Given the description of an element on the screen output the (x, y) to click on. 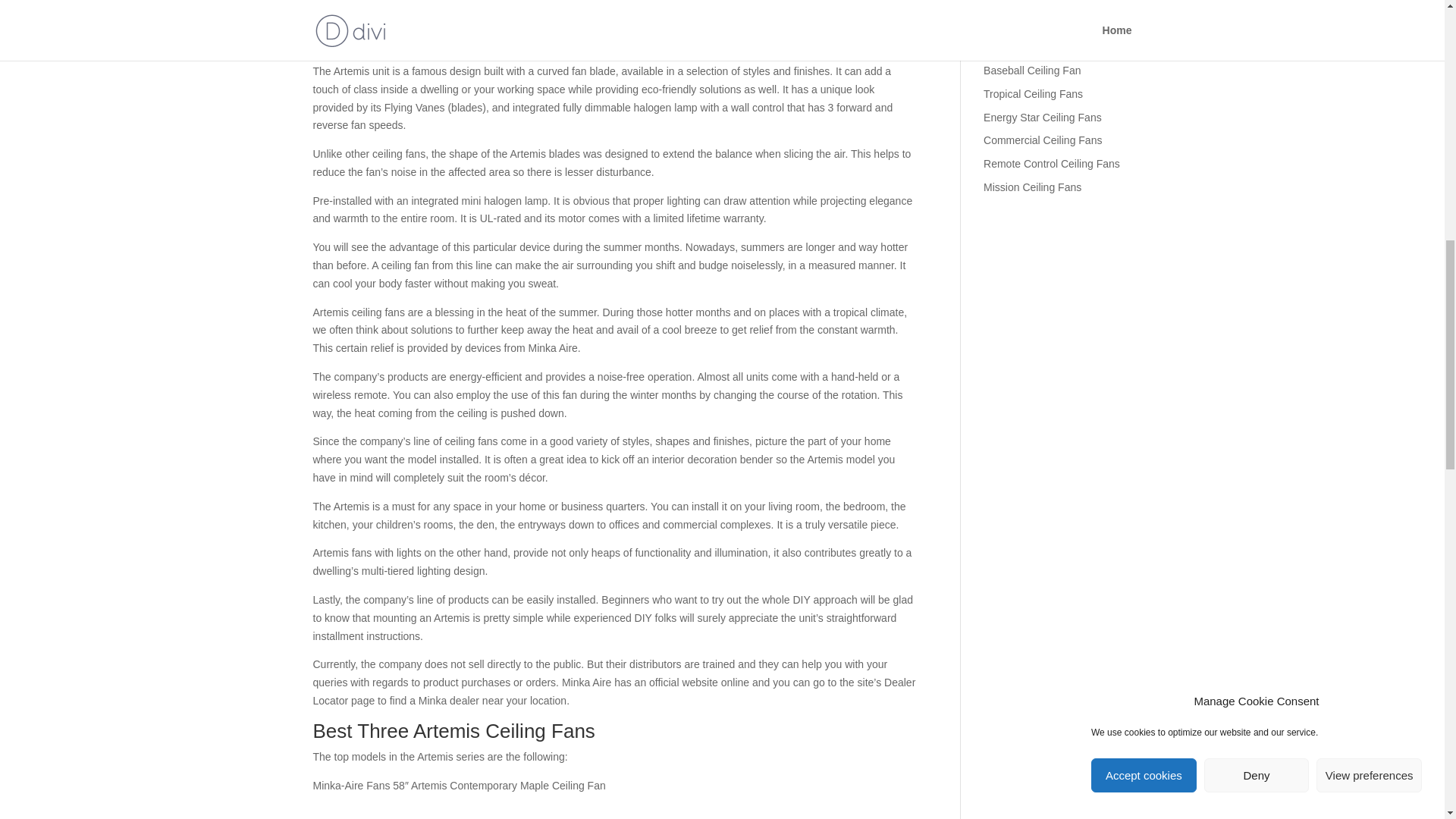
Small Ceiling Fans (1027, 46)
Cheap Ceiling Fans (1030, 23)
Baseball Ceiling Fan (1032, 70)
Commercial Ceiling Fans (1043, 140)
Energy Star Ceiling Fans (1043, 117)
Remote Control Ceiling Fans (1051, 163)
Tropical Ceiling Fans (1033, 93)
Gyro Ceiling Fans (1026, 3)
Mission Ceiling Fans (1032, 186)
